Given the description of an element on the screen output the (x, y) to click on. 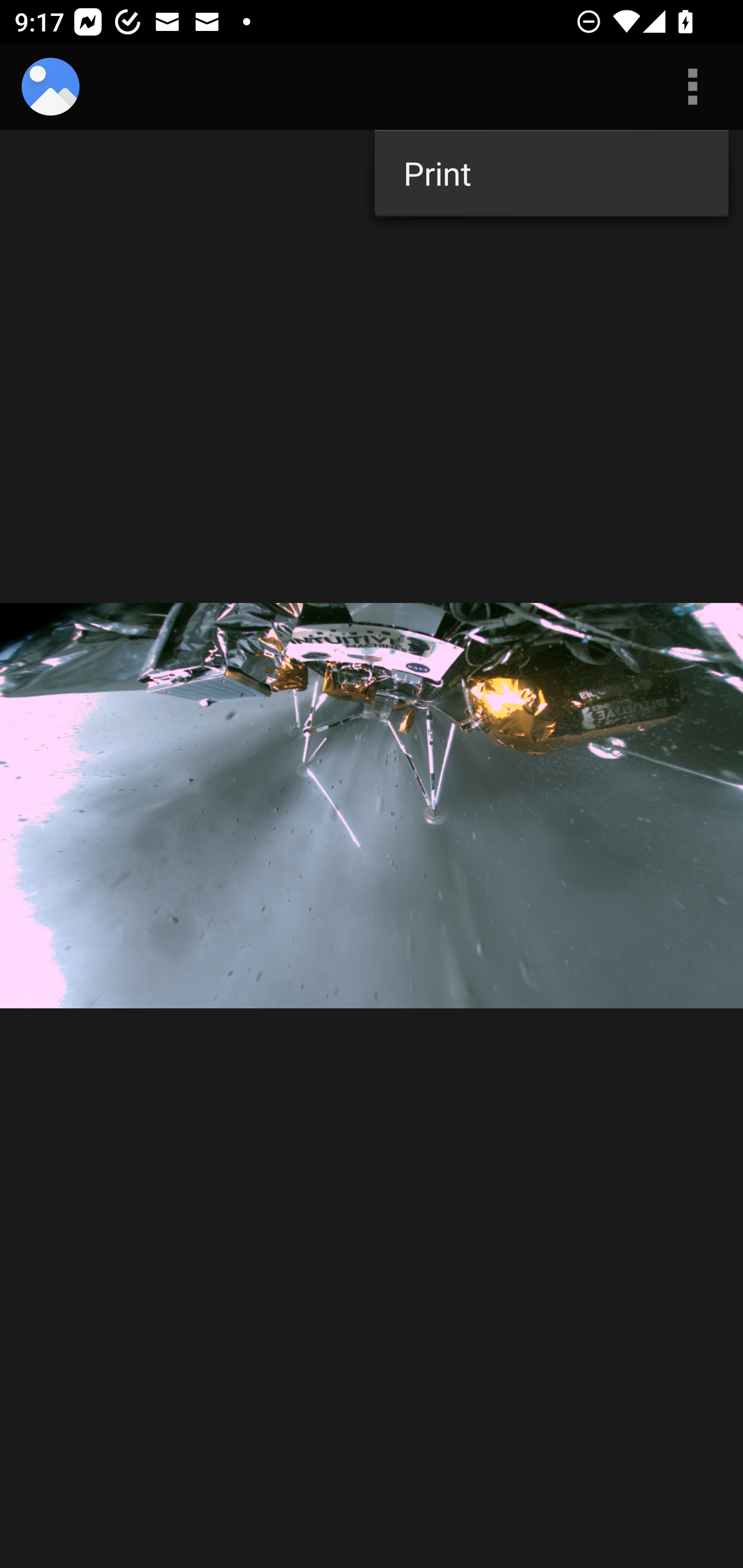
Print (551, 173)
